Given the description of an element on the screen output the (x, y) to click on. 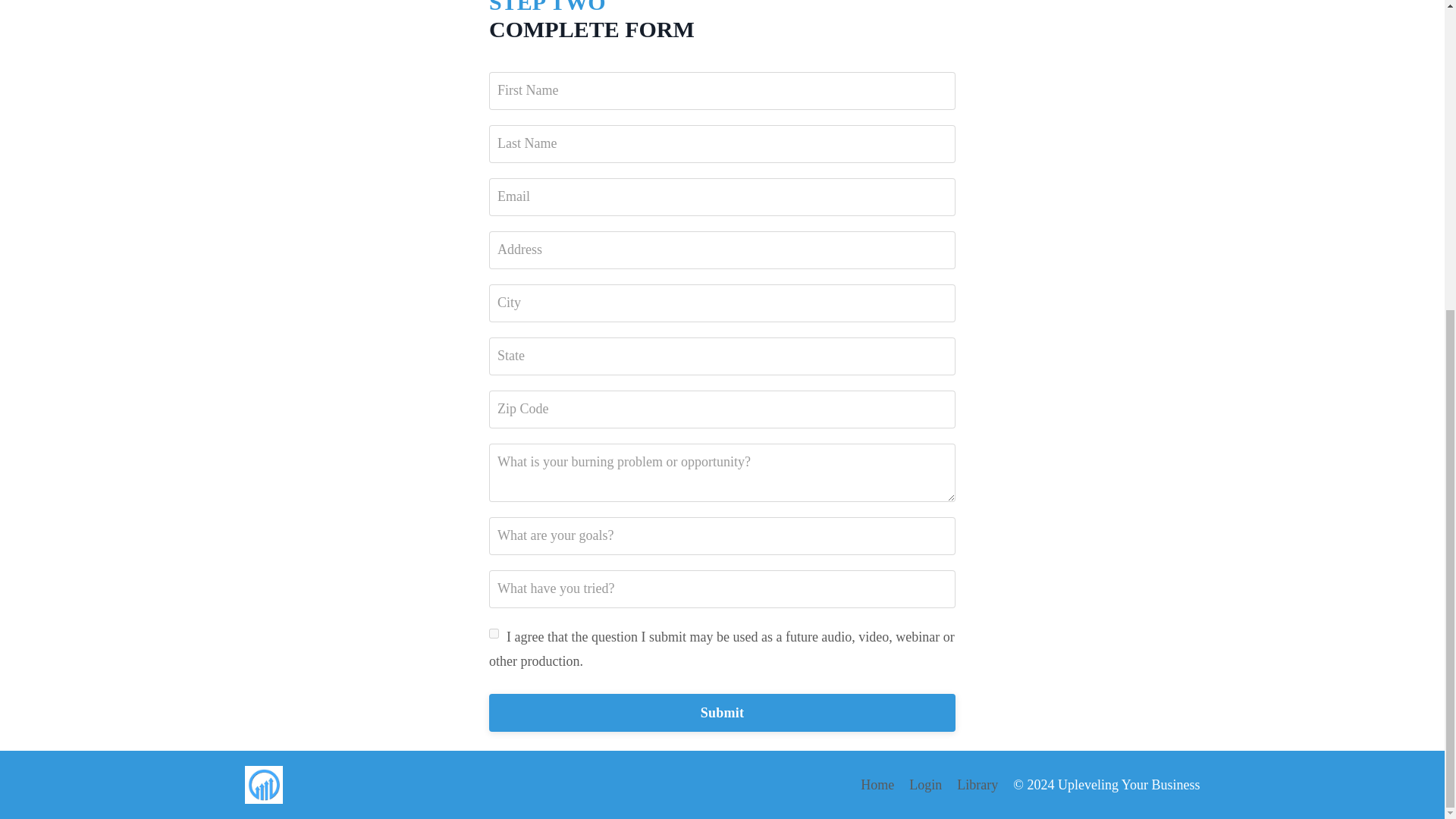
Library (976, 784)
Submit (722, 712)
Home (876, 784)
1 (494, 633)
Login (925, 784)
